Given the description of an element on the screen output the (x, y) to click on. 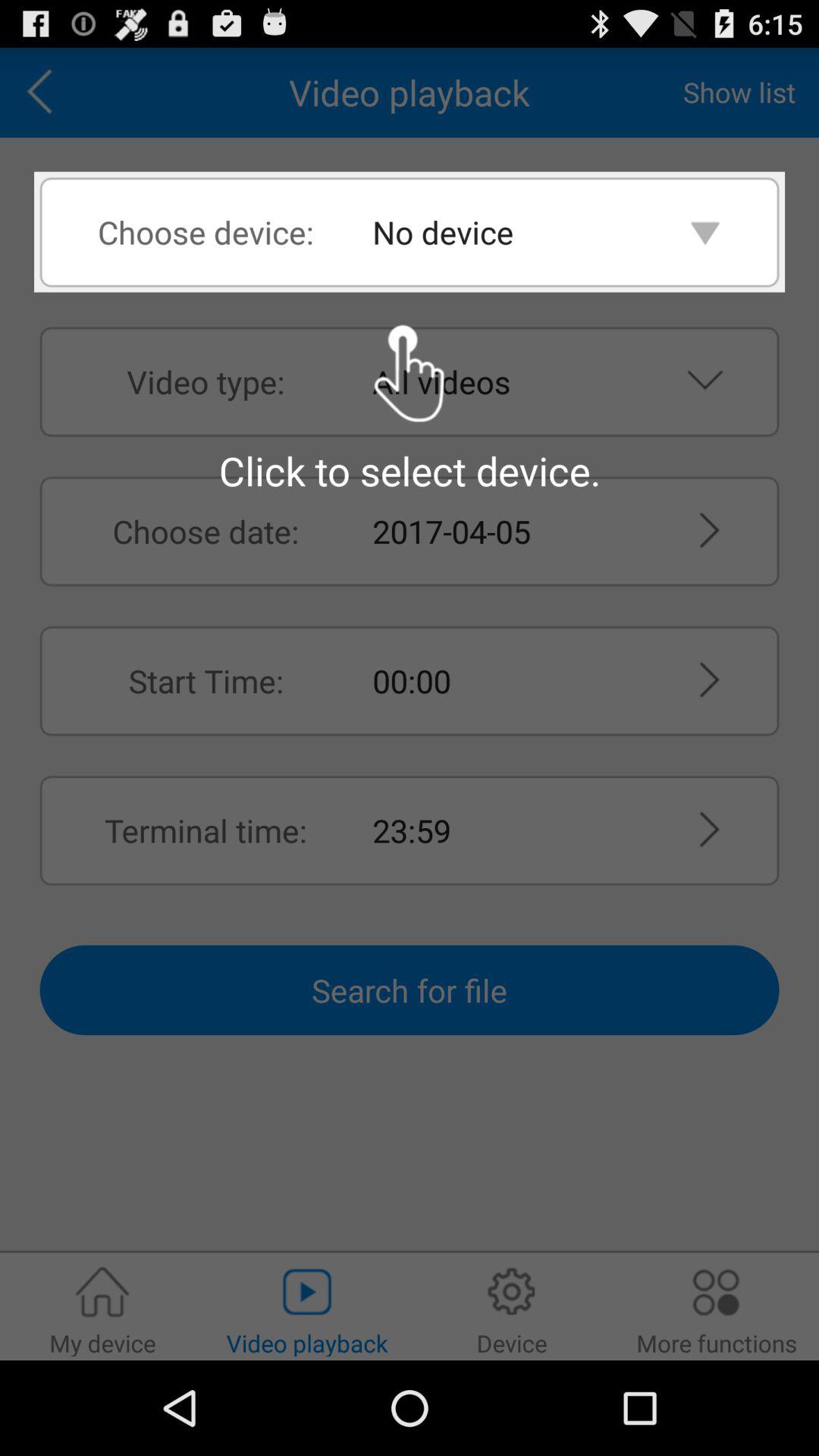
go back (44, 92)
